Given the description of an element on the screen output the (x, y) to click on. 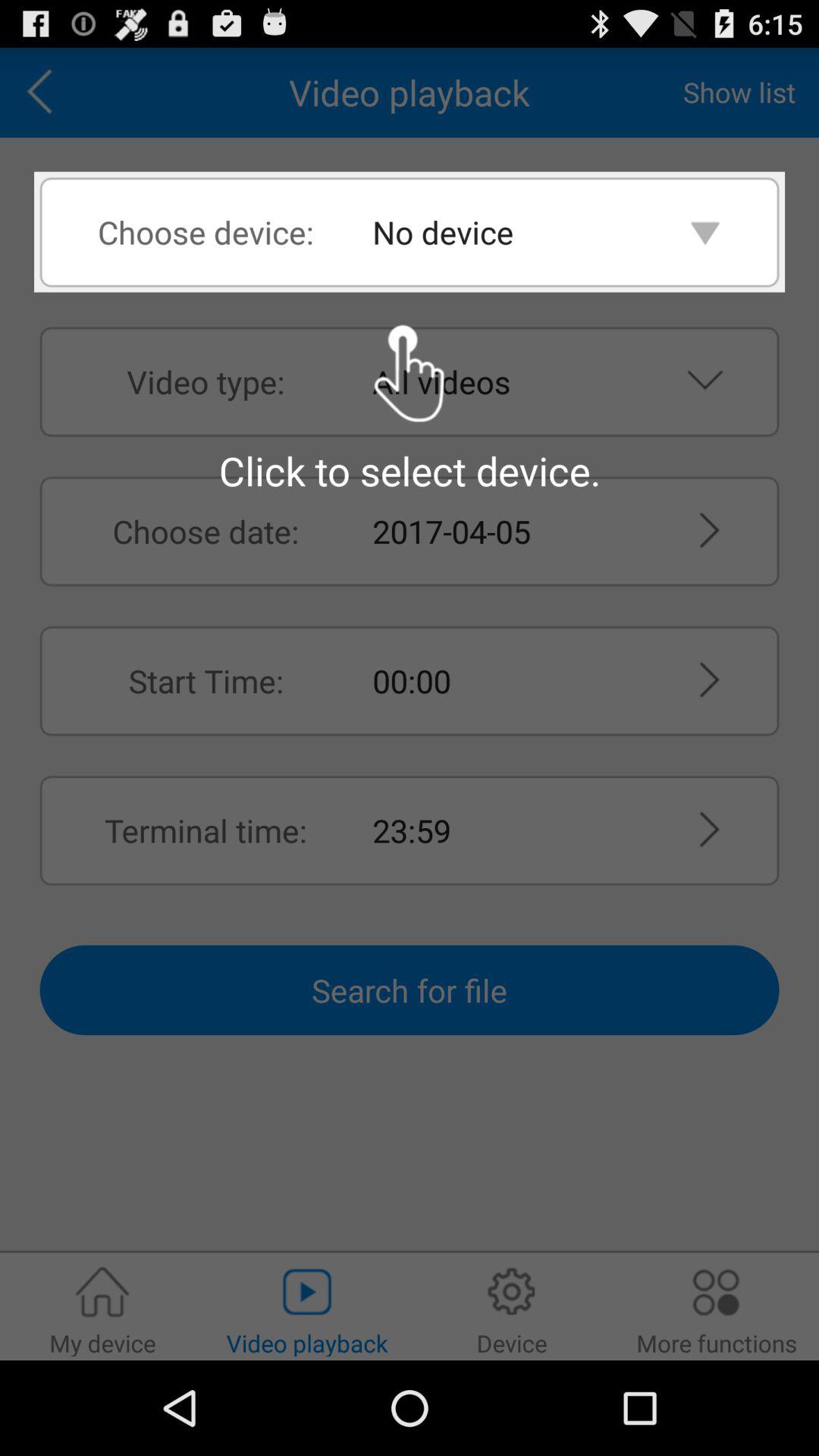
go back (44, 92)
